Given the description of an element on the screen output the (x, y) to click on. 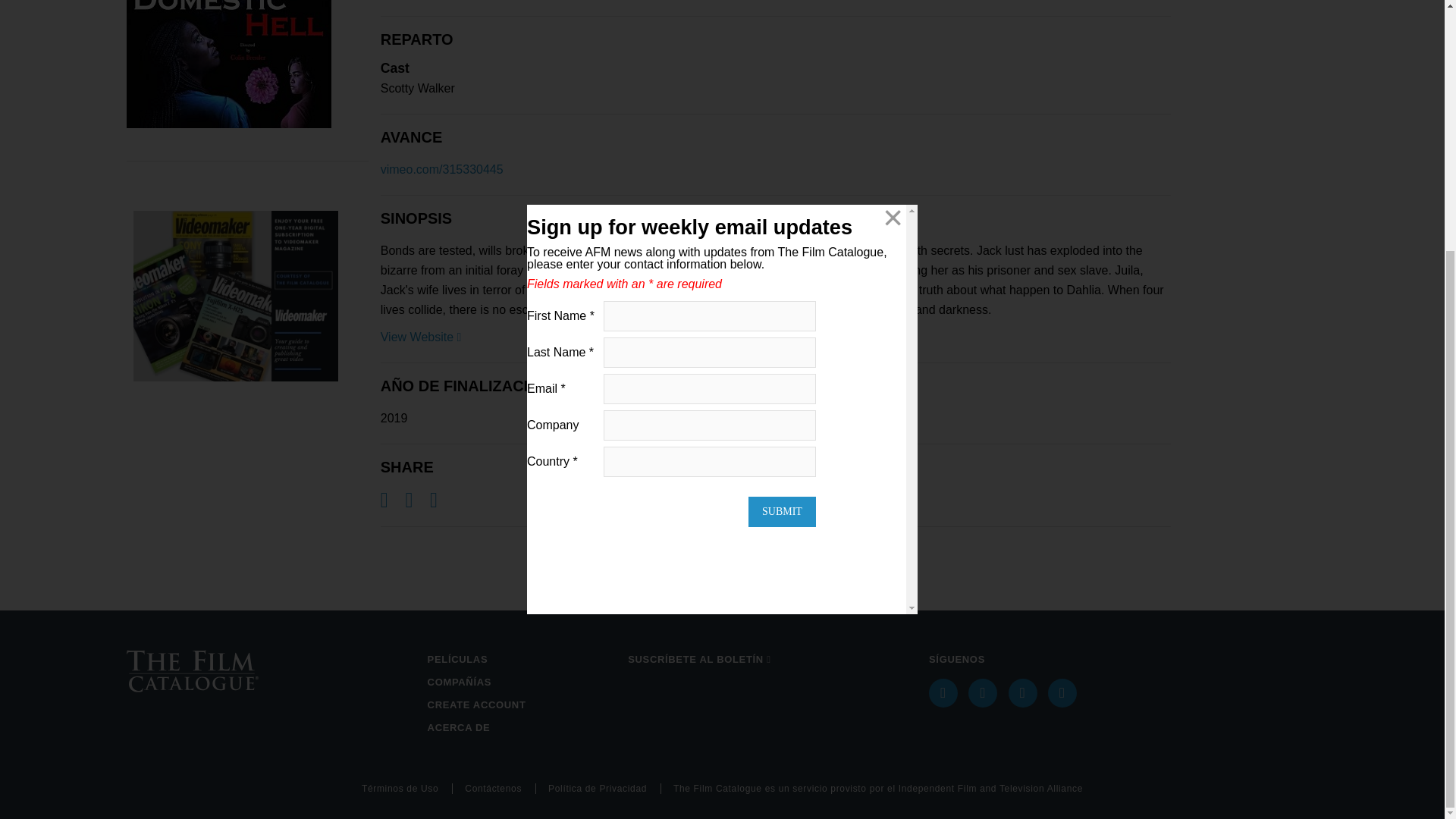
View Website (420, 336)
ACERCA DE (521, 727)
CREATE ACCOUNT (521, 704)
Independent Film and Television Alliance (990, 787)
